Given the description of an element on the screen output the (x, y) to click on. 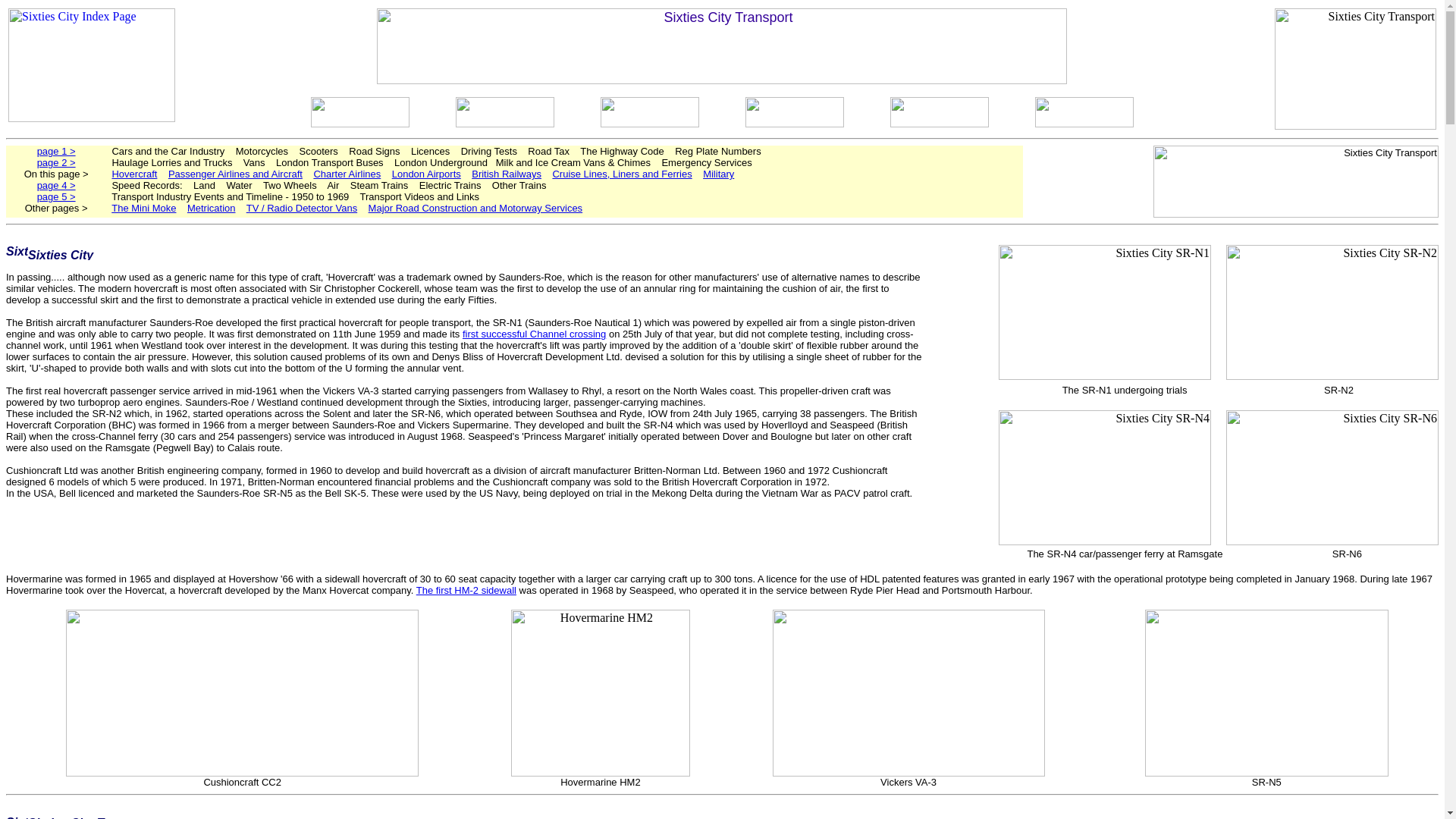
Metrication (211, 207)
The Mini Moke (144, 207)
Hovercraft (134, 173)
The first HM-2 sidewall (466, 590)
London Airports (426, 173)
first successful Channel crossing (534, 333)
Charter Airlines (346, 173)
Military (718, 173)
Passenger Airlines and Aircraft (235, 173)
British Railways (506, 173)
Major Road Construction and Motorway Services (475, 207)
Cruise Lines, Liners and Ferries (621, 173)
